Given the description of an element on the screen output the (x, y) to click on. 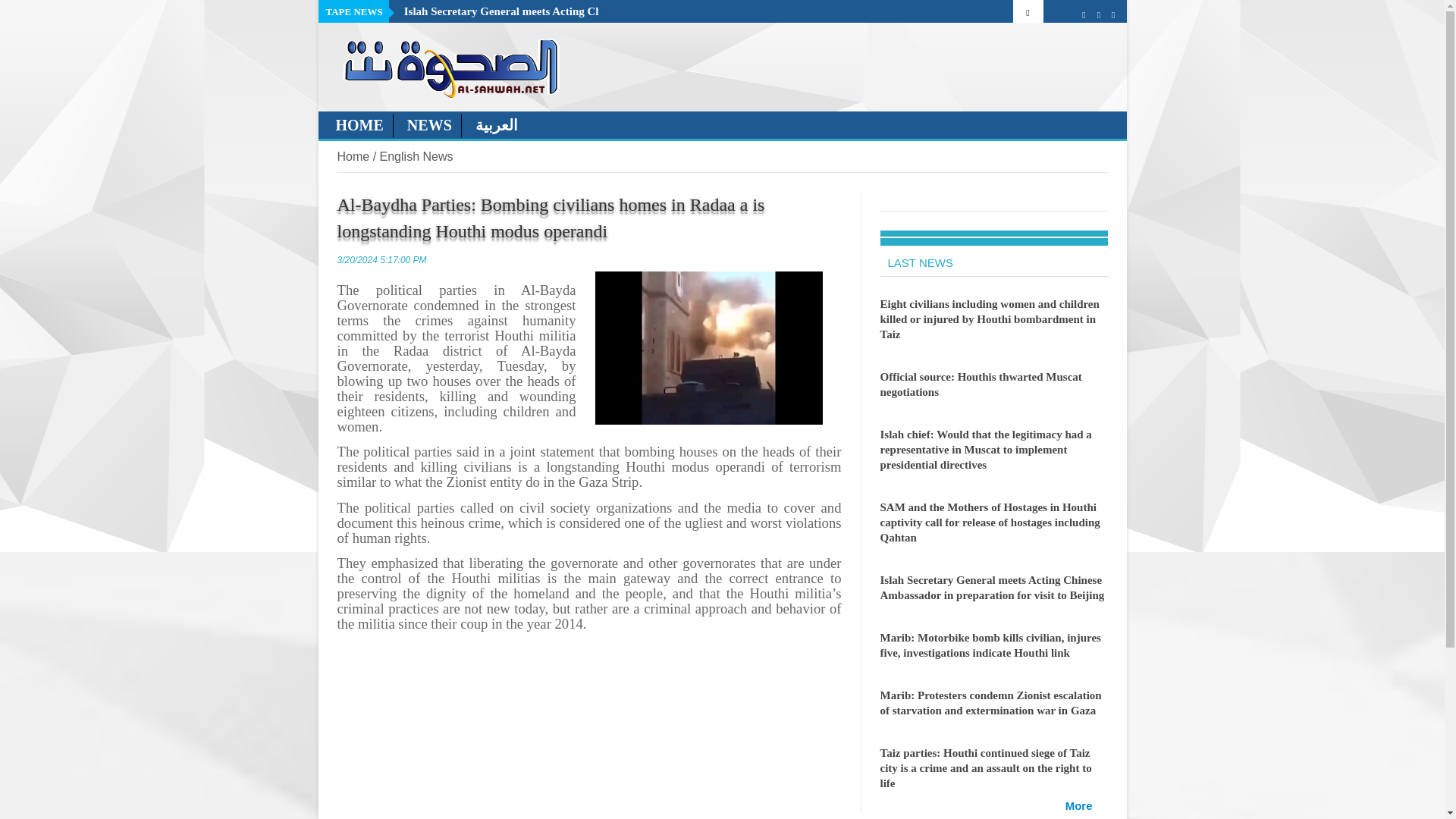
LAST NEWS (915, 262)
English News (416, 155)
Official source: Houthis thwarted Muscat negotiations (980, 384)
English News	 (416, 155)
HOME (358, 125)
NEWS (434, 125)
More (1079, 805)
